Given the description of an element on the screen output the (x, y) to click on. 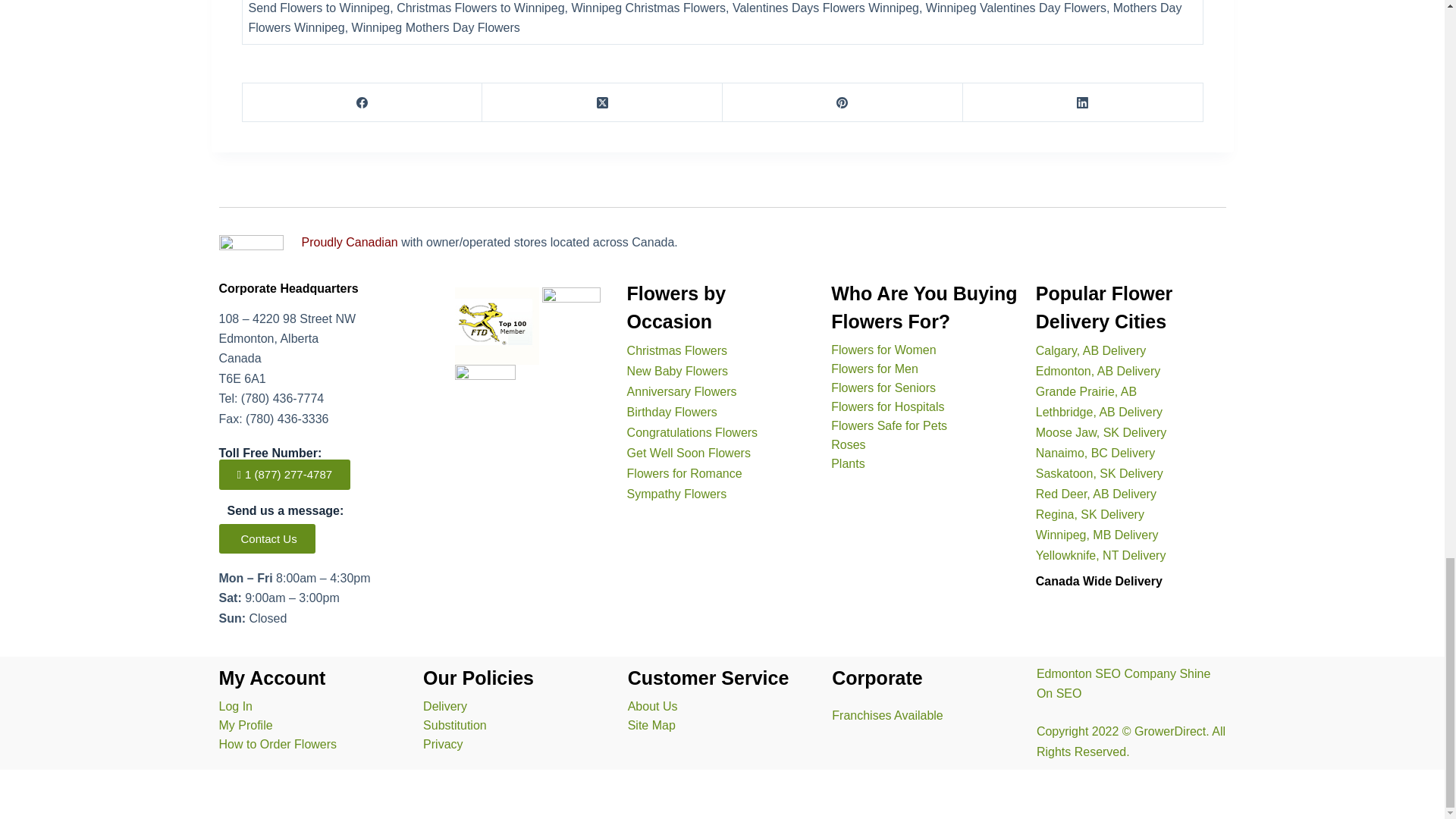
Congratulations Flowers (692, 431)
Birthday Flowers (672, 411)
Flowers for Men (874, 368)
New Baby Flowers (677, 370)
Flowers by Occasion (676, 307)
Anniversary Flowers (681, 391)
Sympathy Flowers (676, 493)
Best Sellers (883, 349)
Get Well Soon Flowers (689, 452)
Flowers for Romance (684, 472)
